Given the description of an element on the screen output the (x, y) to click on. 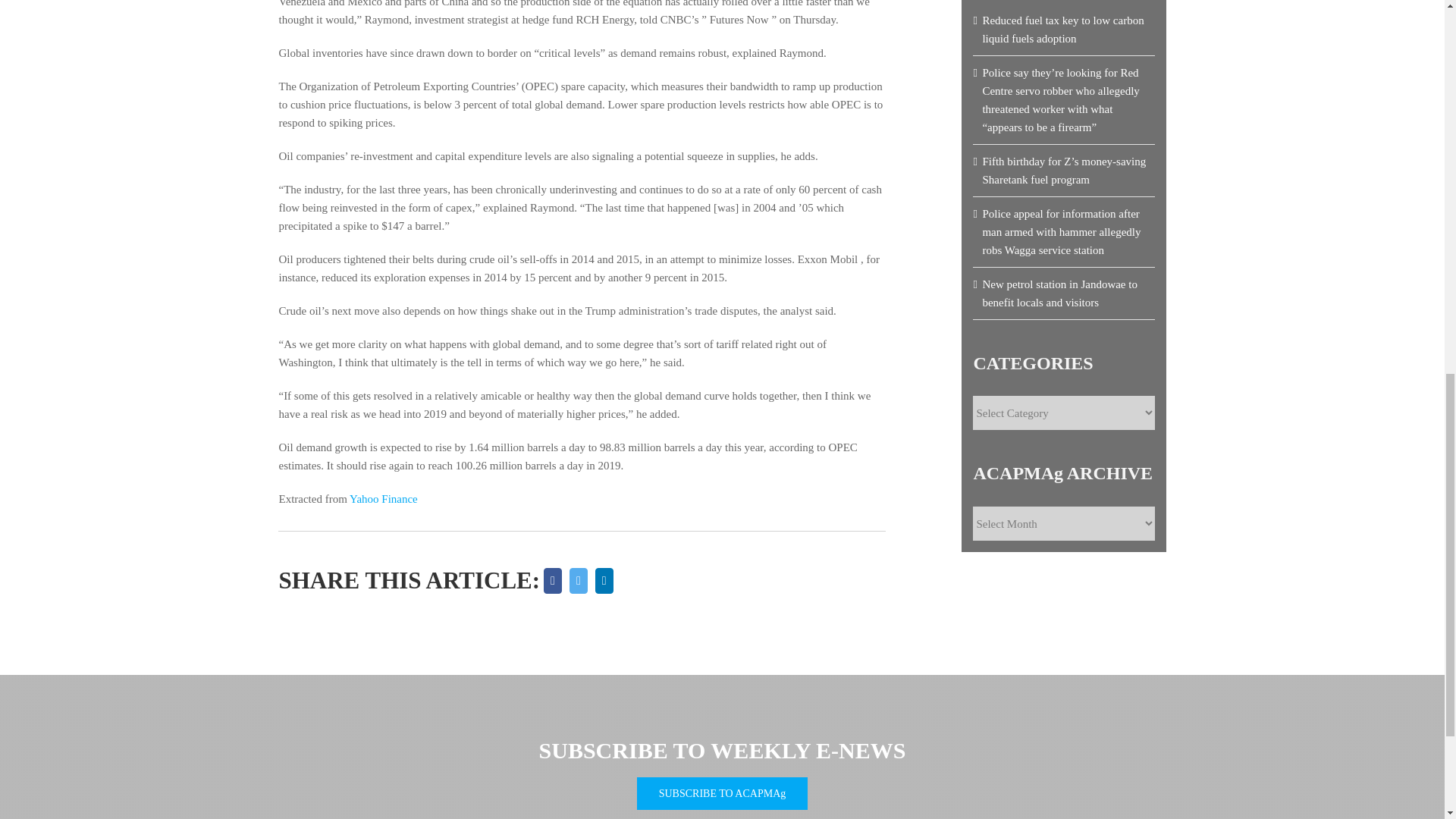
Reduced fuel tax key to low carbon liquid fuels adoption (1061, 29)
SUBSCRIBE TO ACAPMAg (722, 793)
Yahoo Finance (383, 499)
